Given the description of an element on the screen output the (x, y) to click on. 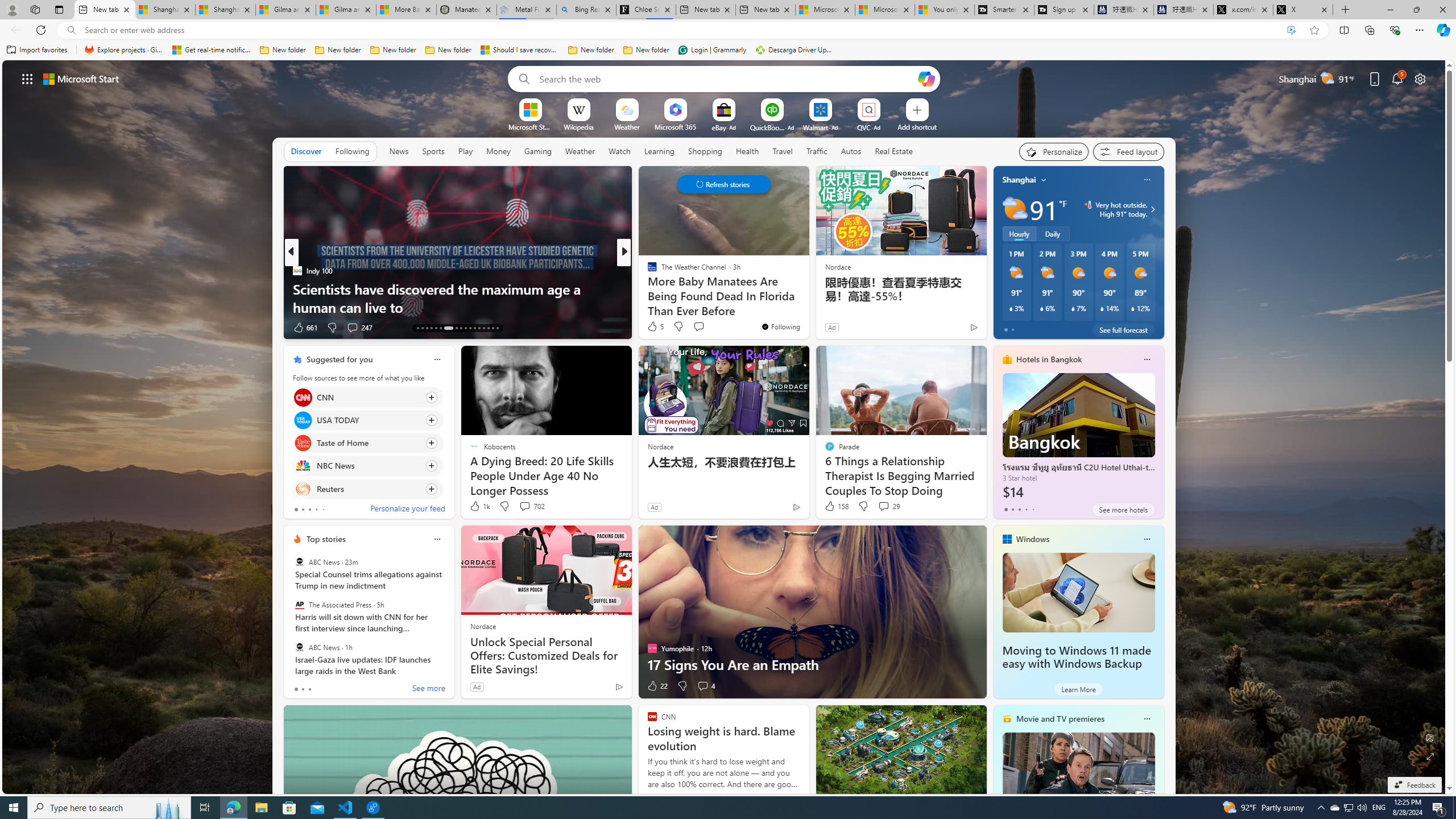
Shopping (705, 151)
93 Like (652, 327)
Sports (432, 151)
View comments 2 Comment (702, 327)
Edit Background (1430, 737)
Play (465, 151)
AutomationID: backgroundImagePicture (723, 426)
Personalize your feed" (1054, 151)
Learn More (1078, 689)
